Given the description of an element on the screen output the (x, y) to click on. 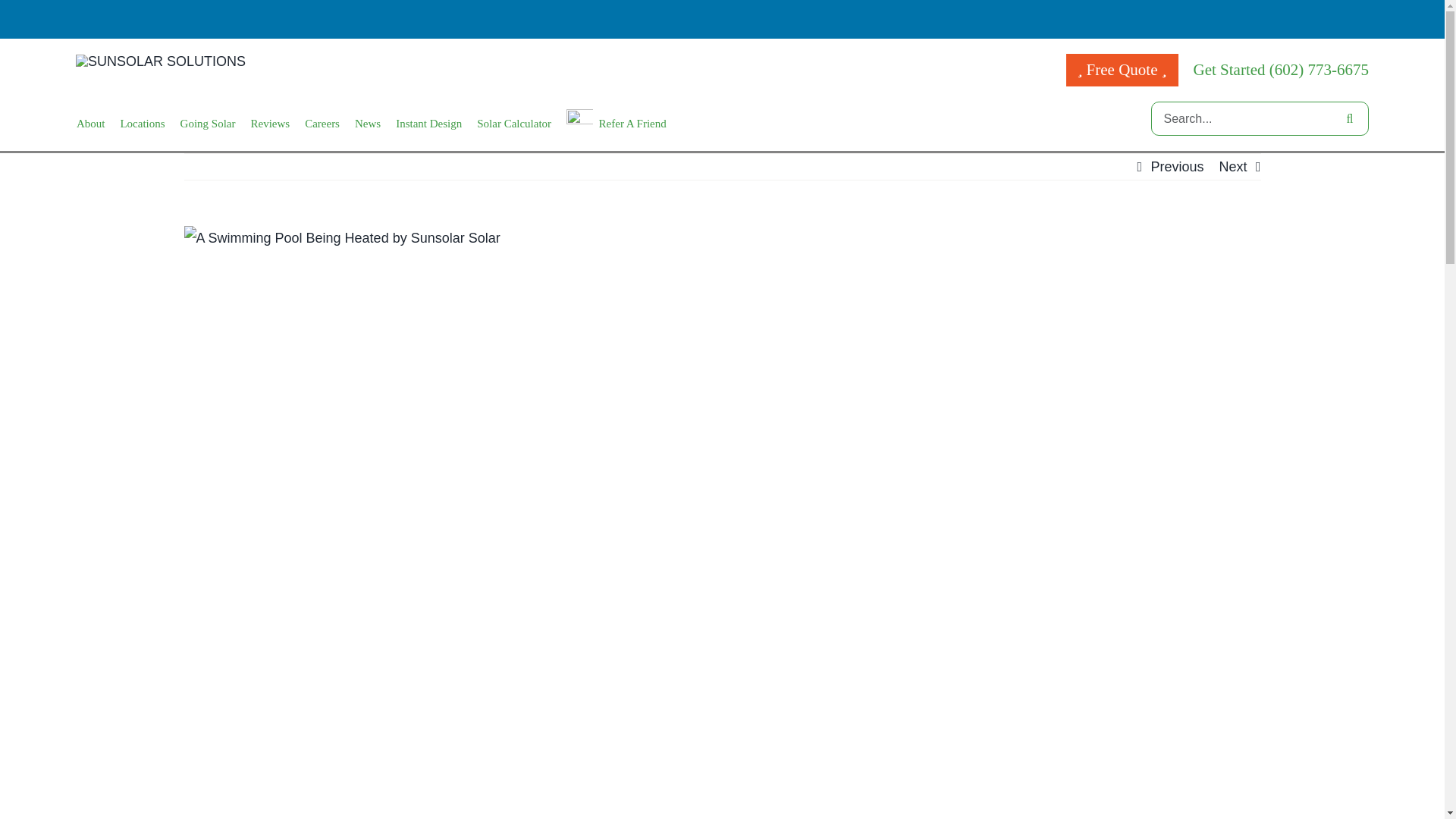
Refer A Friend (616, 124)
Free Quote (1121, 70)
Careers (321, 124)
News (367, 124)
Reviews (269, 124)
Solar Calculator (514, 124)
Next (1232, 166)
Get started. Call us today! (1281, 69)
Locations (141, 124)
